Given the description of an element on the screen output the (x, y) to click on. 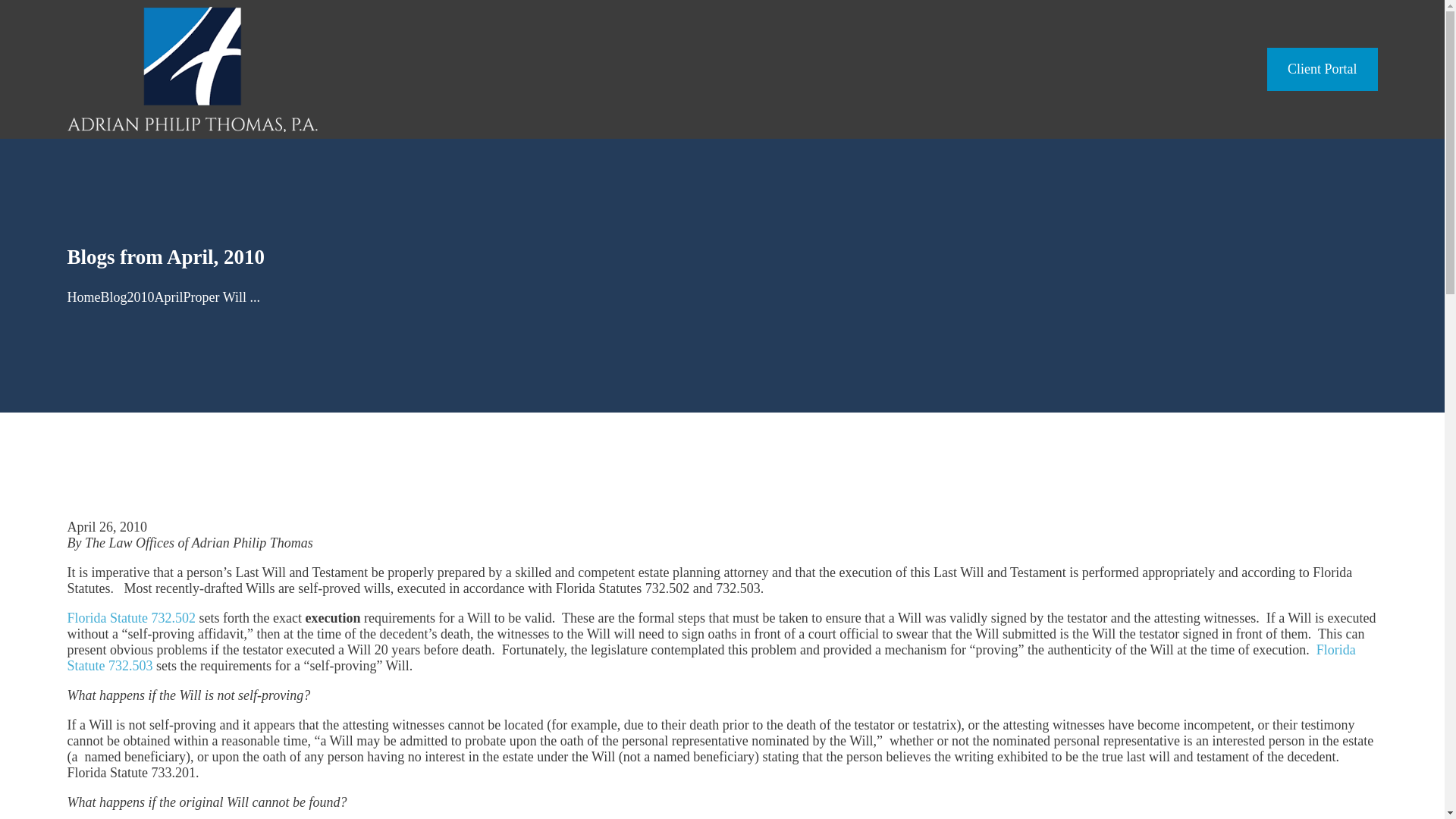
Home (191, 69)
Adrian Philip Thomas, P.A. (191, 68)
Go Home (83, 296)
